Given the description of an element on the screen output the (x, y) to click on. 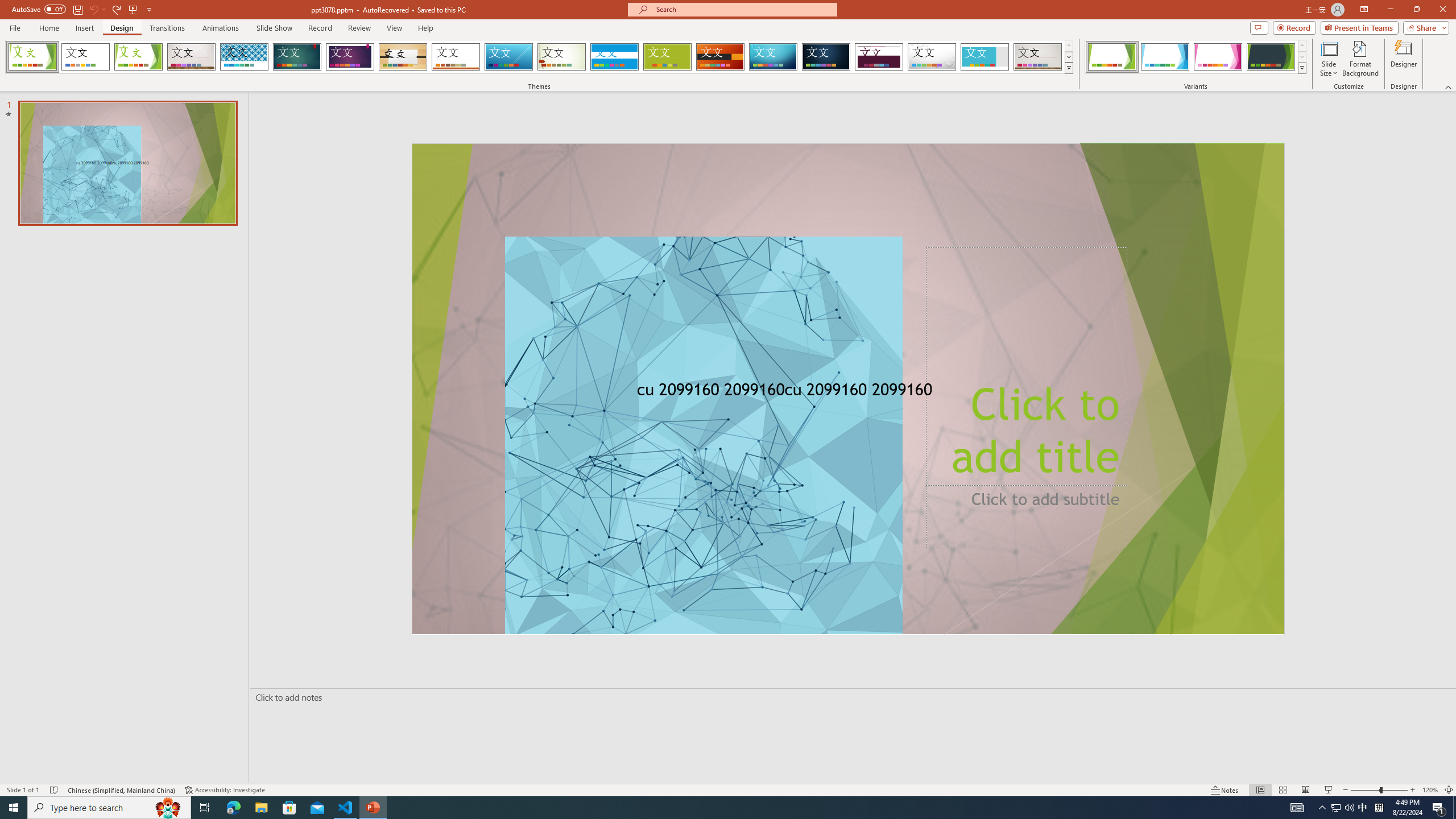
Wisp Loading Preview... (561, 56)
AutomationID: SlideThemesGallery (539, 56)
Circuit Loading Preview... (772, 56)
